Given the description of an element on the screen output the (x, y) to click on. 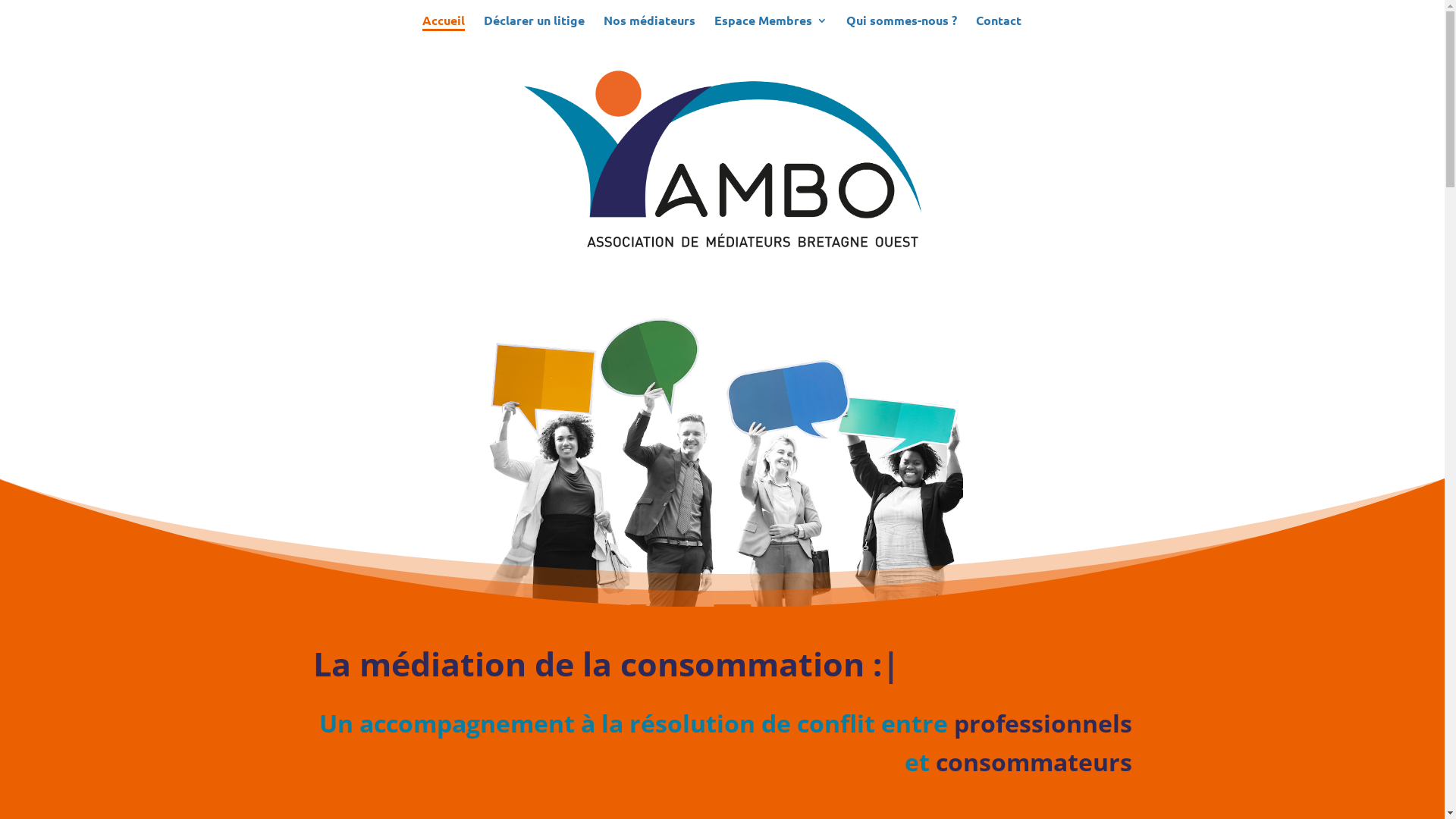
Contact Element type: text (997, 26)
Qui sommes-nous ? Element type: text (901, 26)
Espace Membres Element type: text (770, 26)
Accueil Element type: text (442, 26)
